Given the description of an element on the screen output the (x, y) to click on. 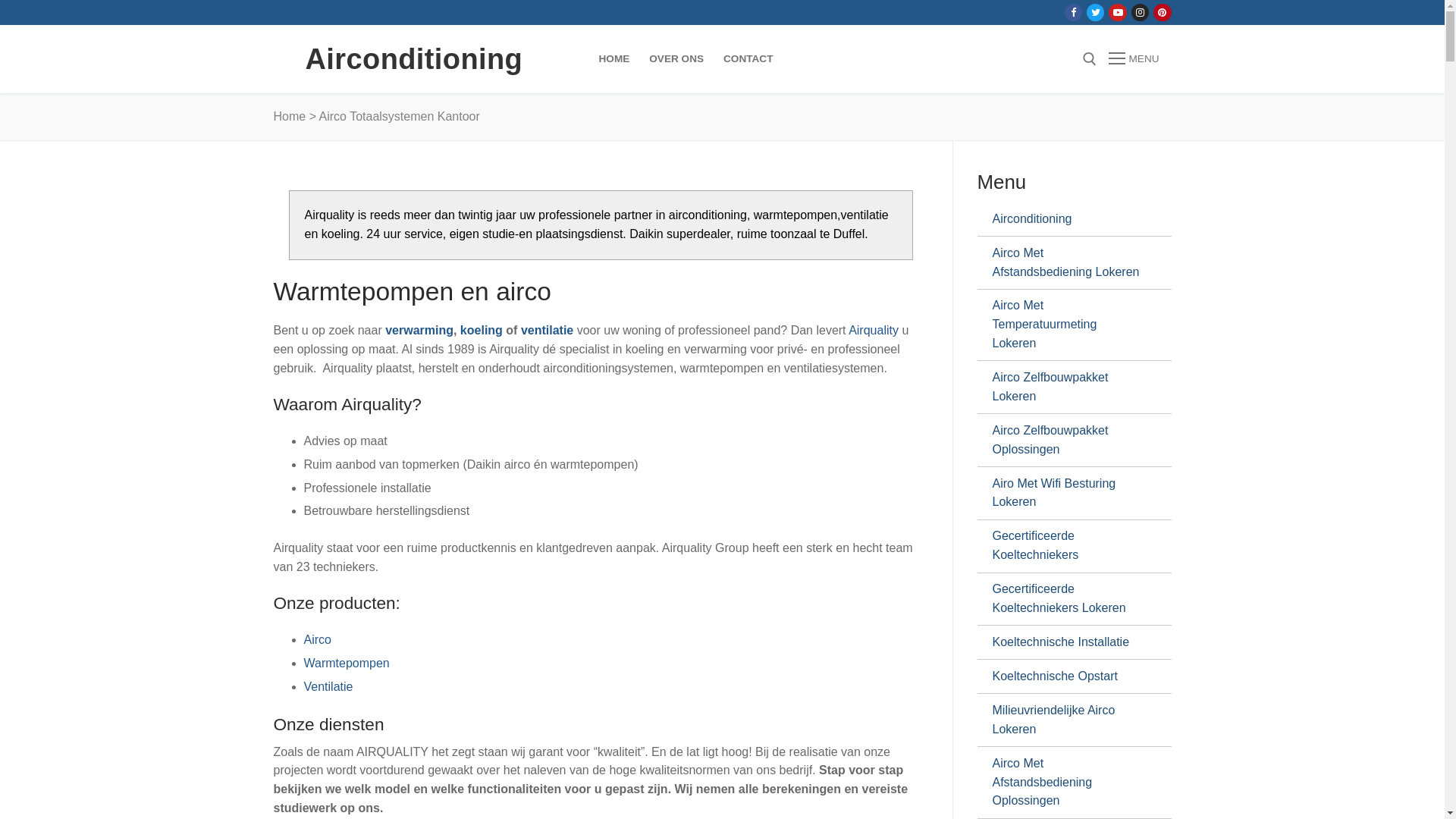
Koeltechnische Opstart Element type: text (1067, 676)
Airco Met Afstandsbediening Oplossingen Element type: text (1067, 782)
Airo Met Wifi Besturing Lokeren Element type: text (1067, 493)
Airquality Element type: text (873, 329)
Airco Zelfbouwpakket Lokeren Element type: text (1067, 386)
OVER ONS Element type: text (676, 58)
Airco Zelfbouwpakket Oplossingen Element type: text (1067, 440)
Airconditioning Element type: text (413, 58)
koeling Element type: text (481, 329)
Ventilatie Element type: text (327, 686)
Gecertificeerde Koeltechniekers Lokeren Element type: text (1067, 599)
CONTACT Element type: text (747, 58)
Airconditioning Element type: text (1067, 218)
MENU Element type: text (1133, 59)
Airco Met Afstandsbediening Lokeren Element type: text (1067, 262)
Gecertificeerde Koeltechniekers Element type: text (1067, 546)
Youtube Element type: hover (1118, 12)
Airco Element type: text (316, 639)
ventilatie Element type: text (546, 329)
Airco Met Temperatuurmeting Lokeren Element type: text (1067, 324)
Twitter Element type: hover (1095, 12)
Instagram Element type: hover (1140, 12)
verwarming Element type: text (419, 329)
Facebook Element type: hover (1073, 12)
Warmtepompen Element type: text (346, 662)
Milieuvriendelijke Airco Lokeren Element type: text (1067, 719)
HOME Element type: text (613, 58)
Pinterest Element type: hover (1162, 12)
Koeltechnische Installatie Element type: text (1067, 641)
Naar de inhoud springen Element type: text (0, 0)
